Given the description of an element on the screen output the (x, y) to click on. 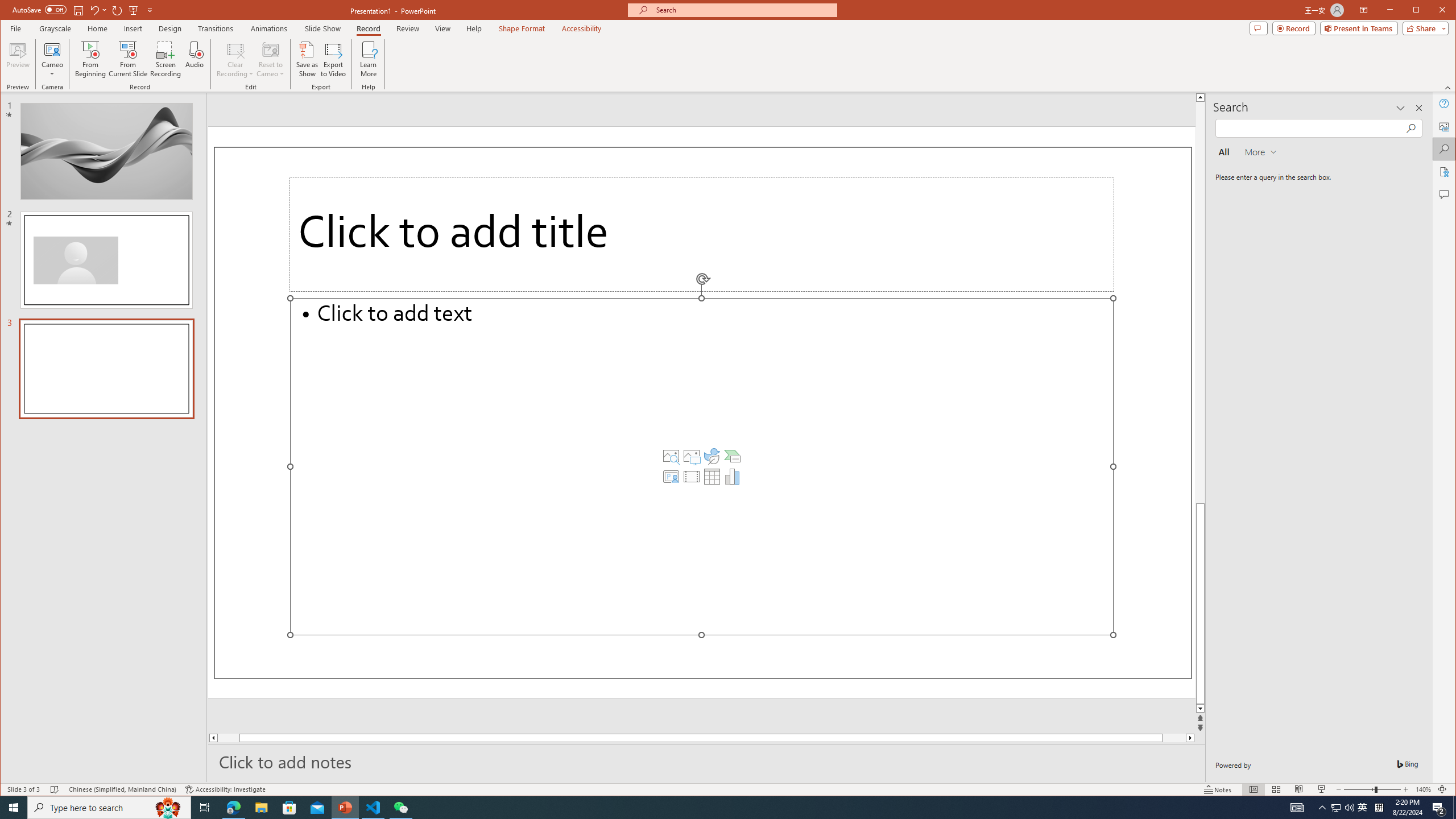
Transitions (215, 28)
AutomationID: 4105 (1297, 807)
Share (1422, 27)
Stock Images (670, 456)
Learn More (368, 59)
Design (170, 28)
Reset to Cameo (269, 59)
Normal (1253, 789)
Collapse the Ribbon (1448, 87)
Class: MsoCommandBar (728, 789)
